Given the description of an element on the screen output the (x, y) to click on. 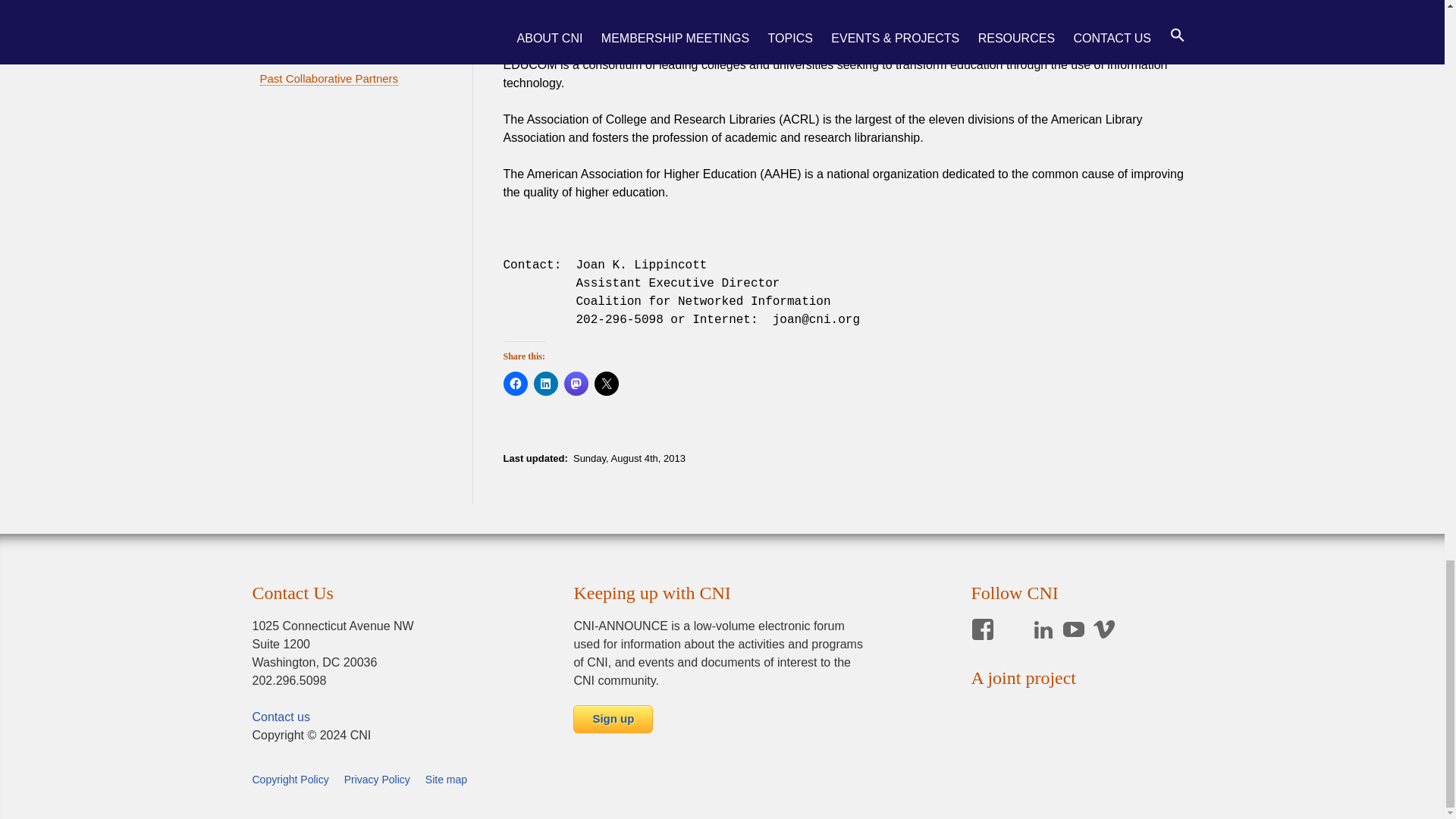
Click to share on Facebook (515, 383)
Click to share on X (606, 383)
Click to share on LinkedIn (545, 383)
Click to share on Mastodon (576, 383)
